Given the description of an element on the screen output the (x, y) to click on. 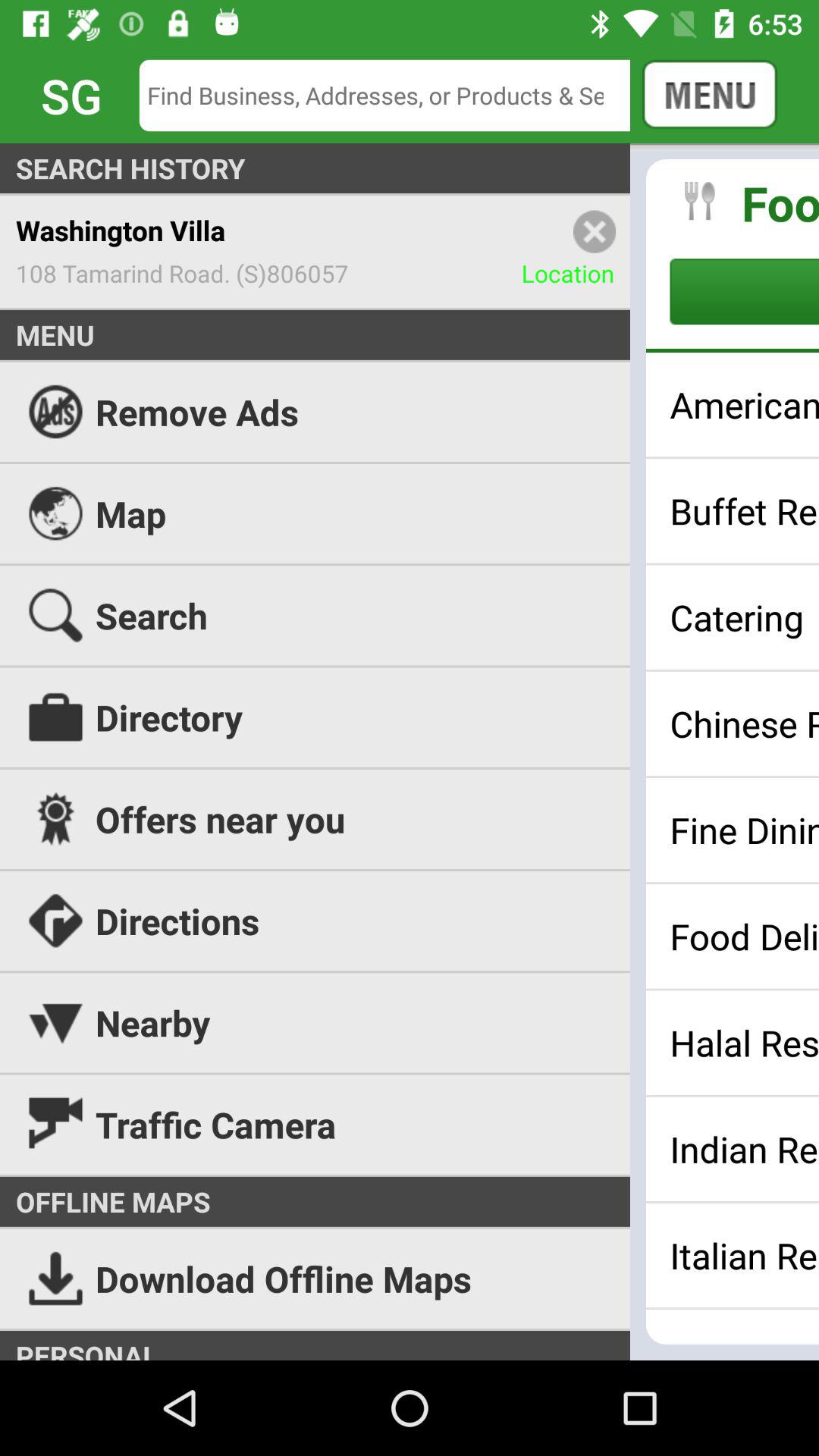
choose the food delivery icon (744, 936)
